Given the description of an element on the screen output the (x, y) to click on. 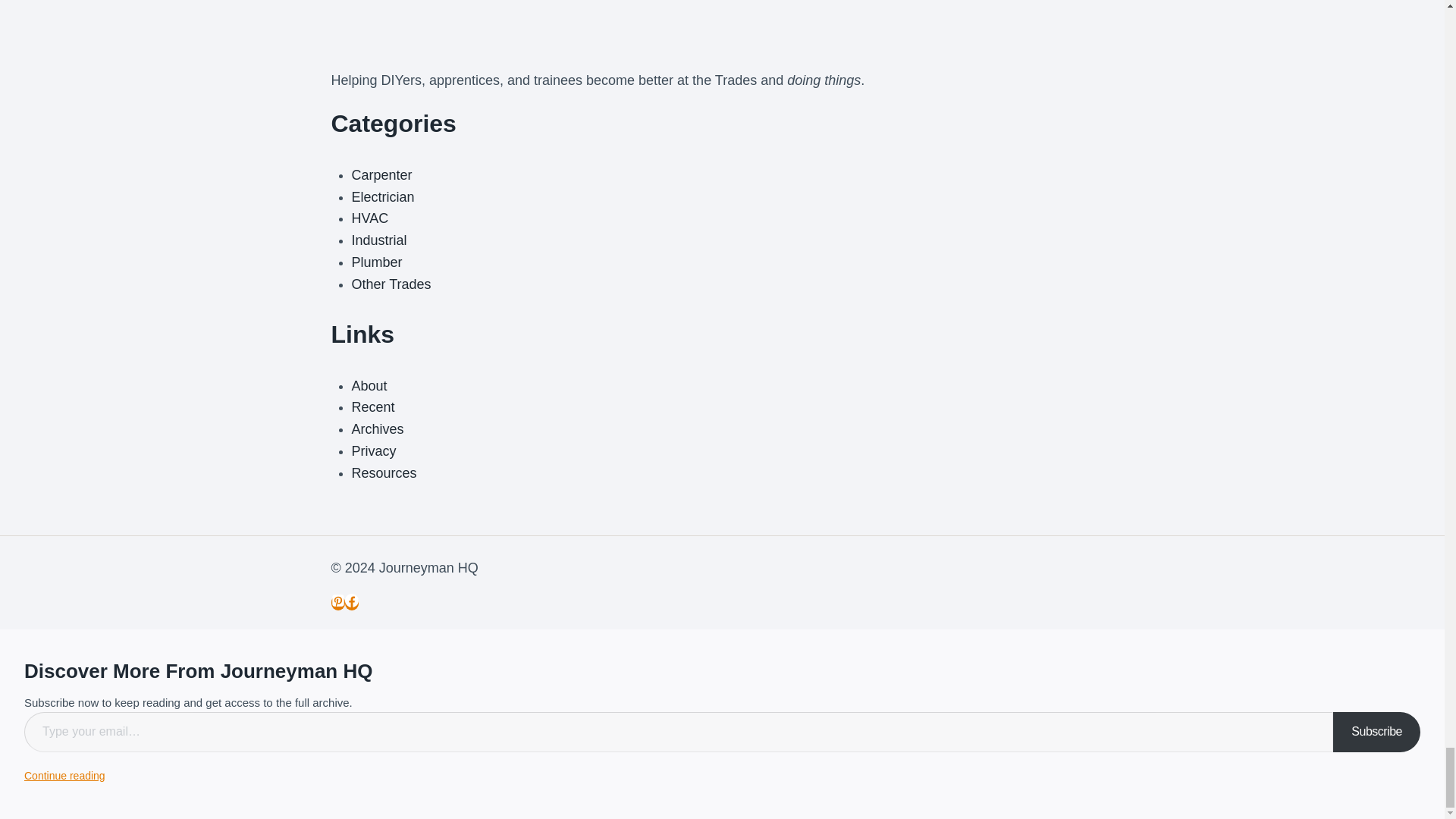
Please fill in this field. (678, 731)
